Given the description of an element on the screen output the (x, y) to click on. 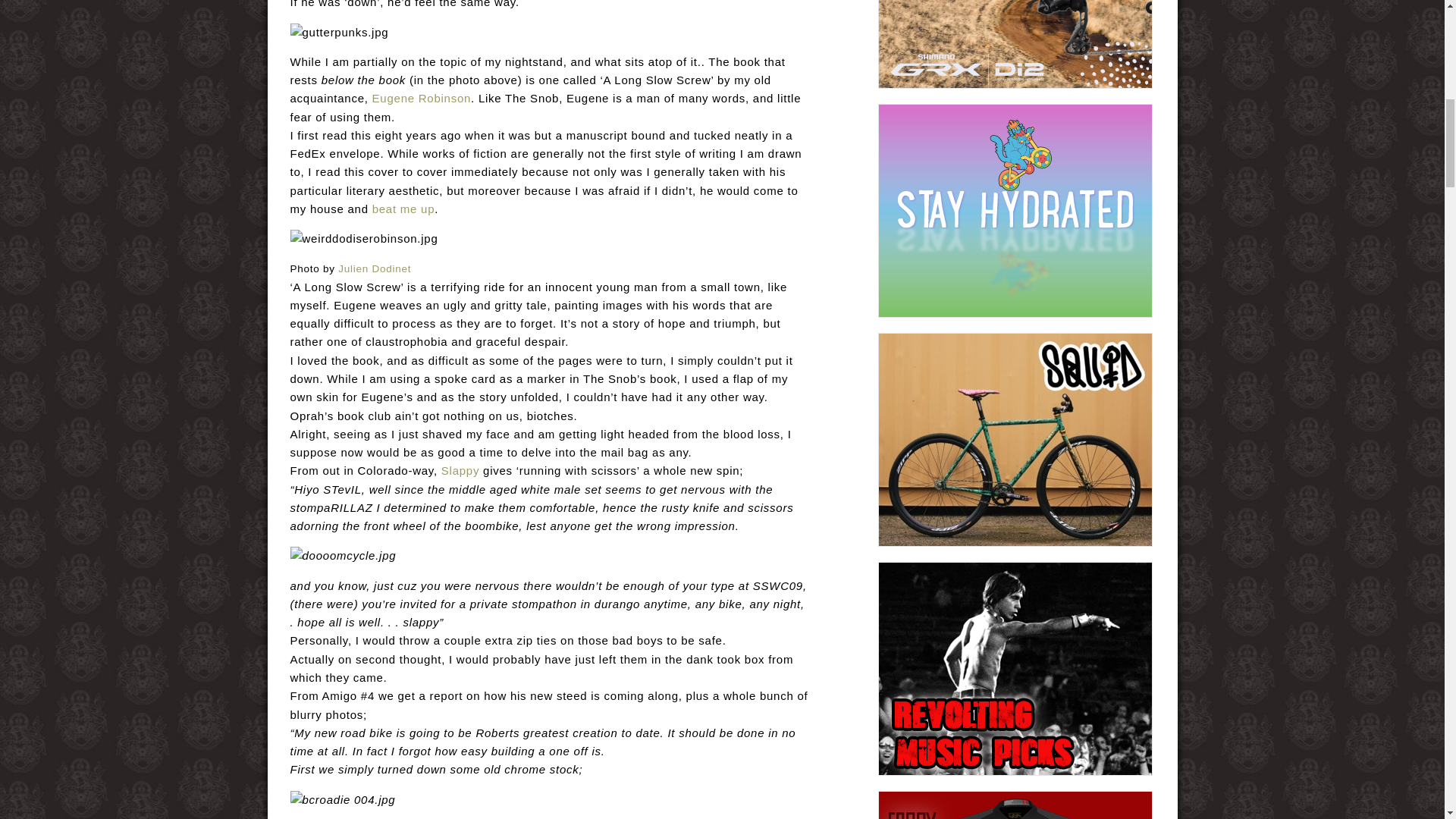
Eugene Robinson (421, 97)
Julien Dodinet (373, 268)
Slappy (460, 470)
beat me up (403, 208)
